Given the description of an element on the screen output the (x, y) to click on. 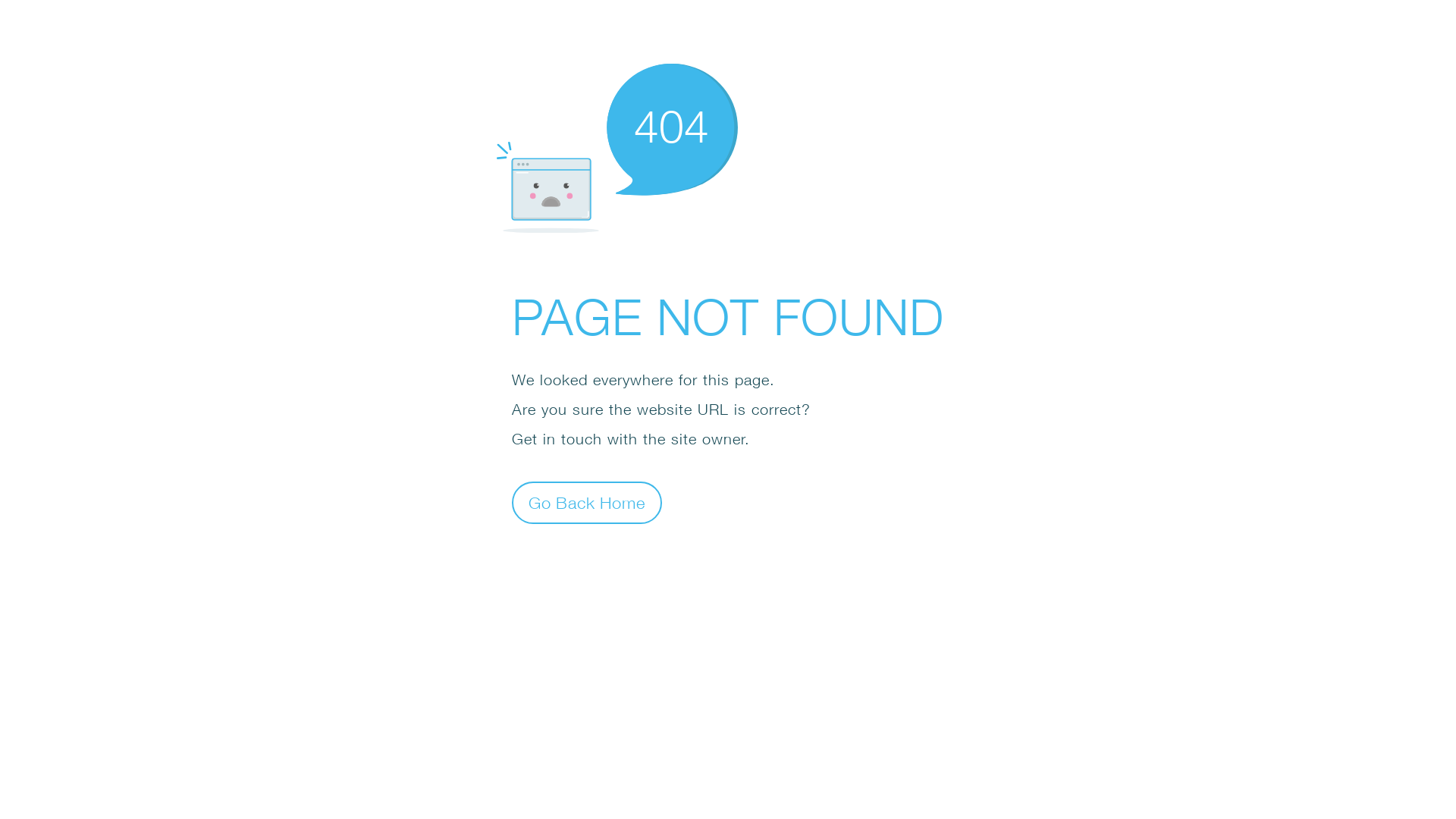
Go Back Home Element type: text (586, 502)
